Given the description of an element on the screen output the (x, y) to click on. 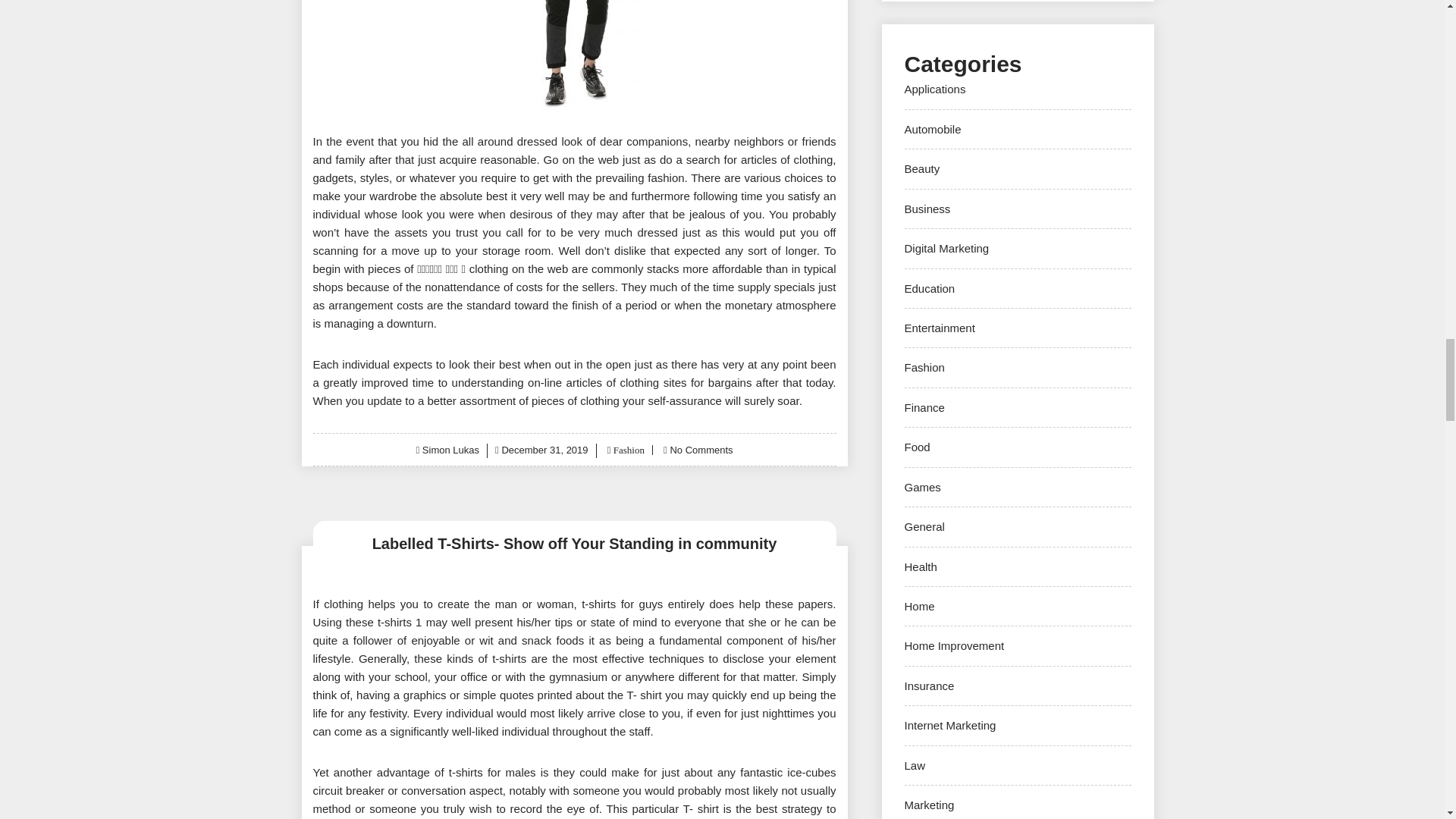
Simon Lukas (450, 449)
No Comments (700, 449)
December 31, 2019 (544, 449)
Labelled T-Shirts- Show off Your Standing in community (574, 543)
Fashion (626, 449)
